Given the description of an element on the screen output the (x, y) to click on. 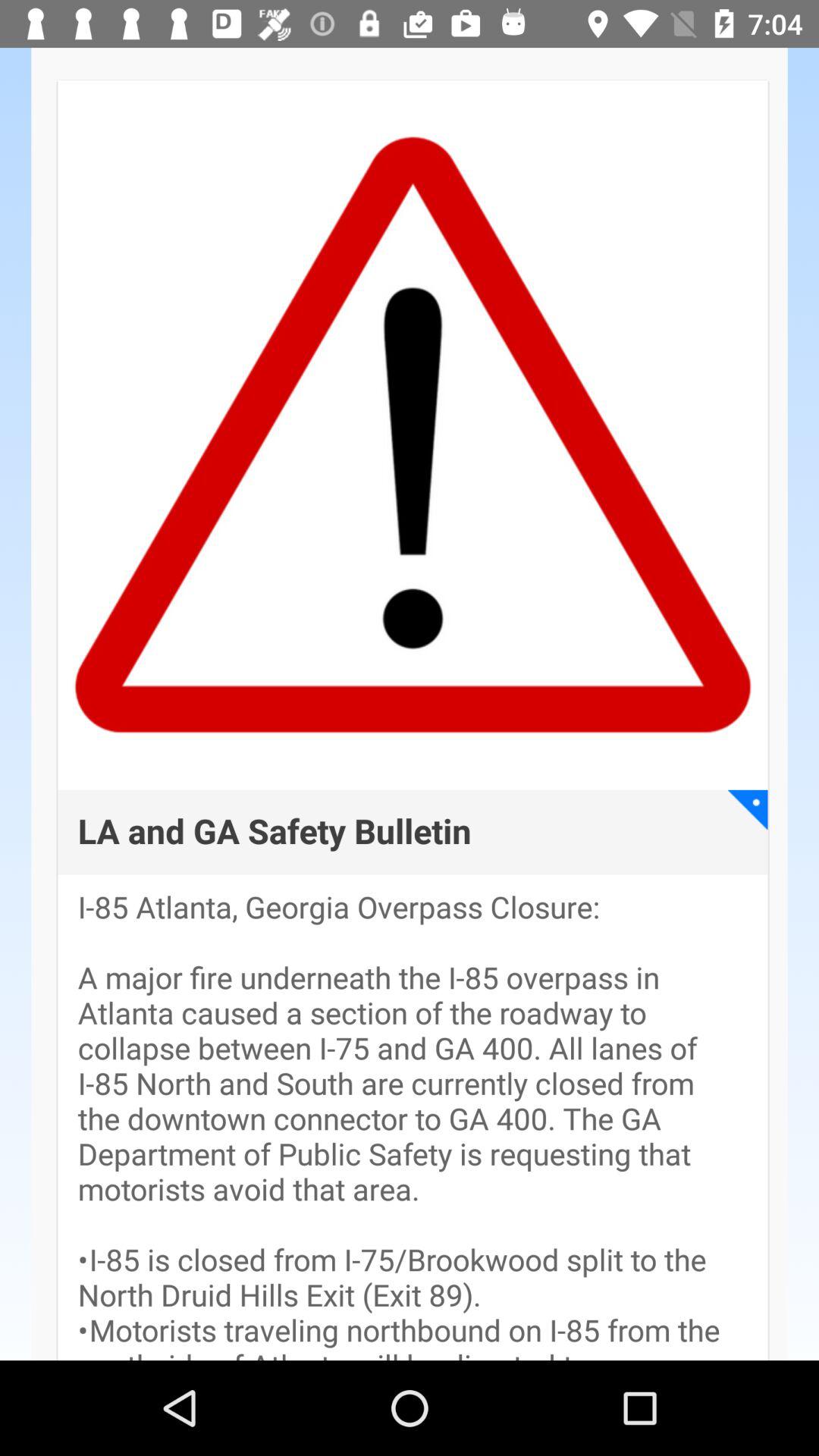
turn on the app next to la and ga icon (747, 809)
